Given the description of an element on the screen output the (x, y) to click on. 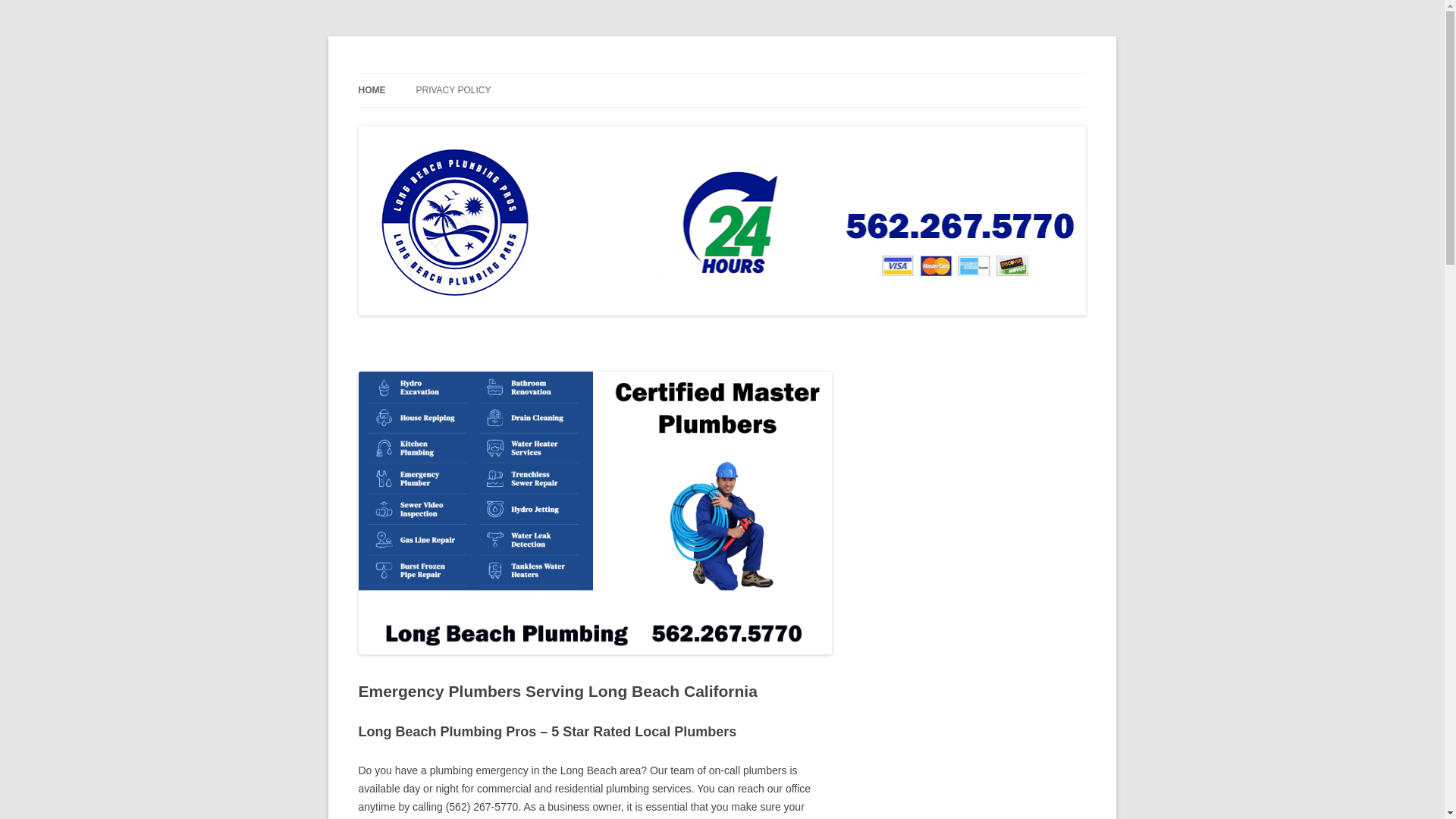
PRIVACY POLICY (452, 90)
Long Beach California Emergency Plumbers (566, 72)
Long Beach California Emergency Plumbers (566, 72)
